Given the description of an element on the screen output the (x, y) to click on. 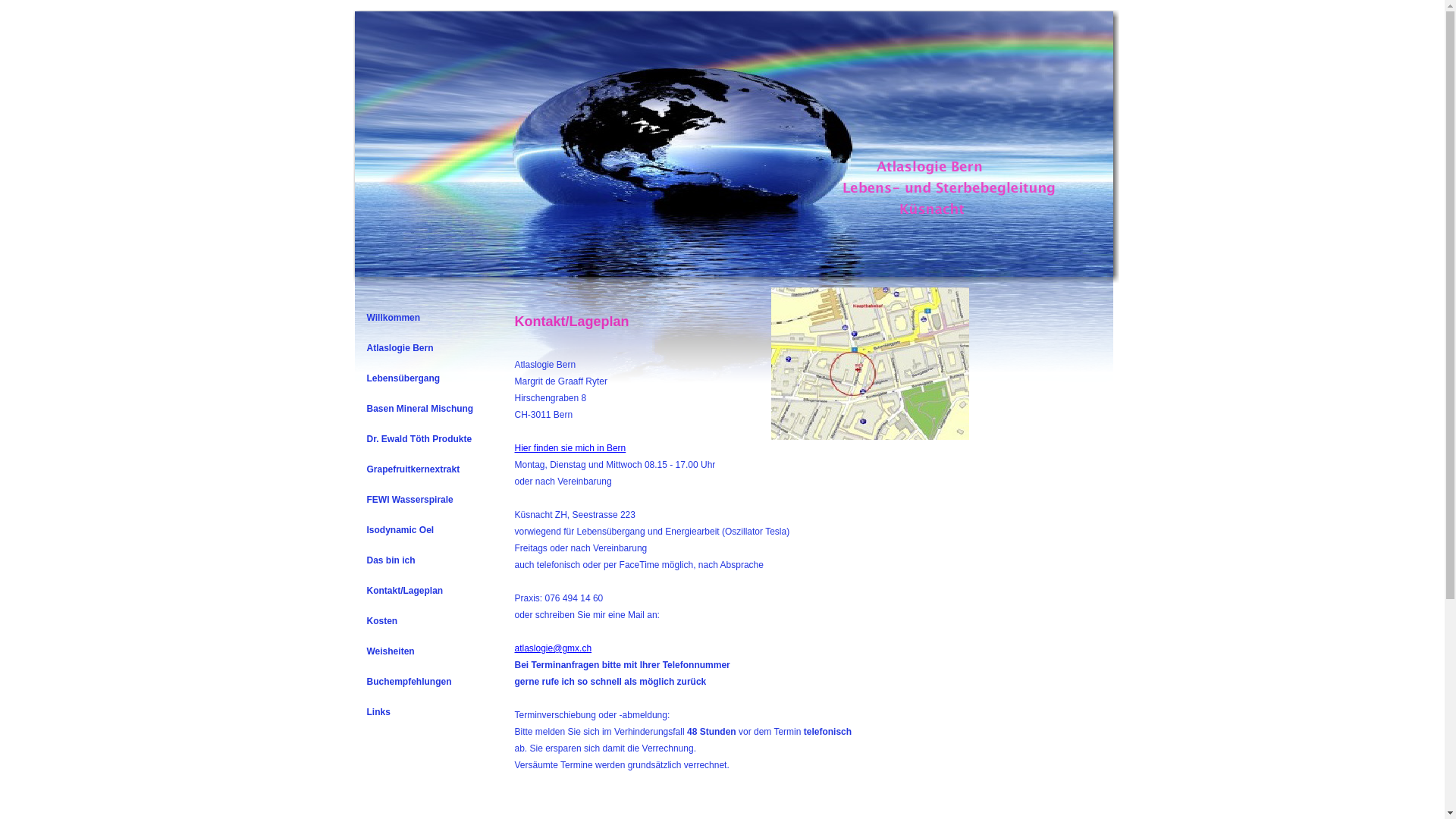
Isodynamic Oel Element type: text (425, 525)
Links Element type: text (425, 707)
Basen Mineral Mischung Element type: text (425, 404)
atlaslogie@gmx.ch Element type: text (552, 648)
Grapefruitkernextrakt Element type: text (425, 464)
Kosten Element type: text (425, 616)
FEWI Wasserspirale Element type: text (425, 495)
Atlaslogie Bern Element type: text (425, 343)
Das bin ich Element type: text (425, 555)
Hier finden sie mich in Bern Element type: text (569, 447)
Weisheiten Element type: text (425, 646)
Kontakt/Lageplan Element type: text (425, 586)
Willkommen Element type: text (425, 313)
Buchempfehlungen Element type: text (425, 677)
